Given the description of an element on the screen output the (x, y) to click on. 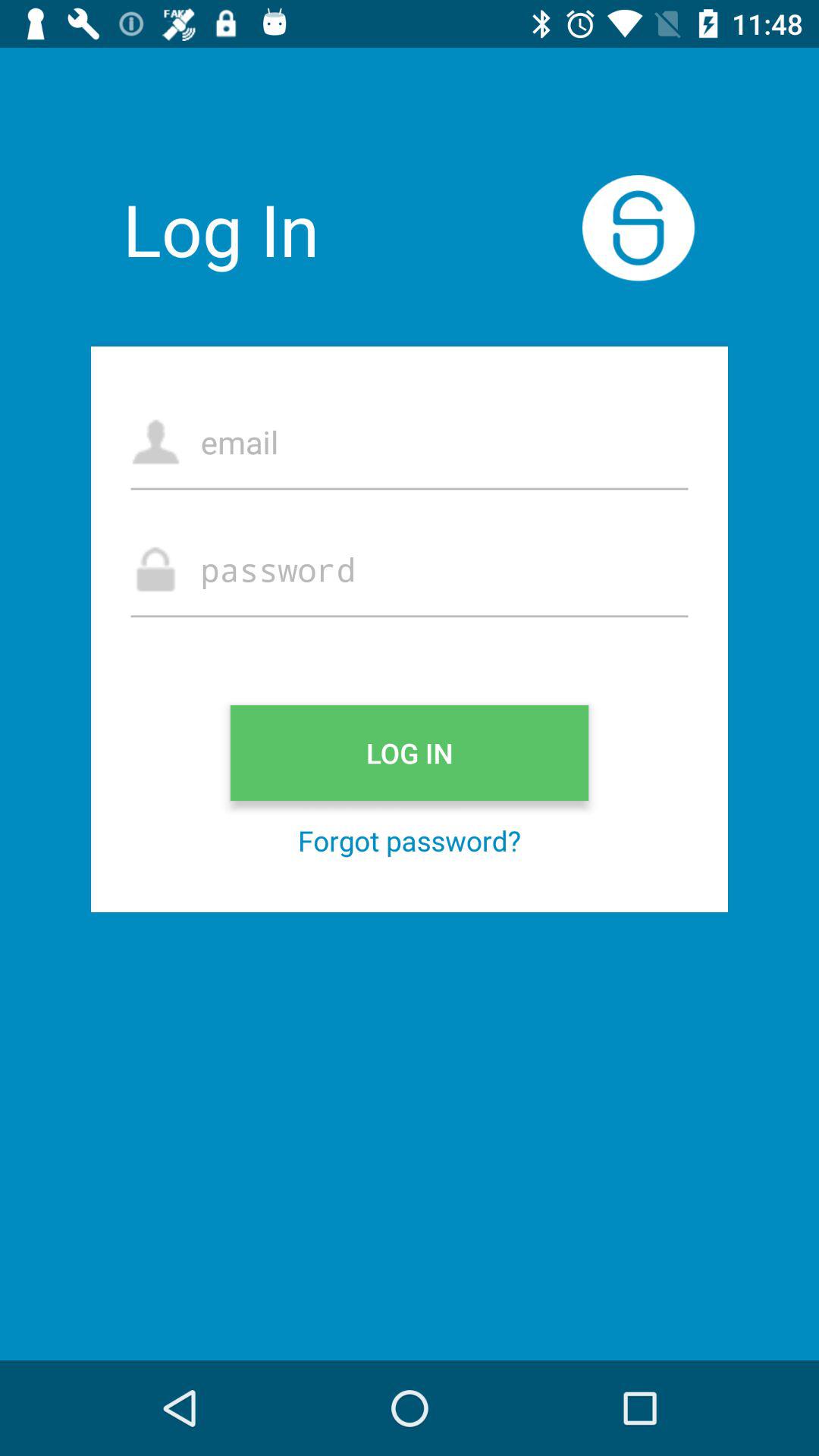
press item at the top (409, 441)
